Given the description of an element on the screen output the (x, y) to click on. 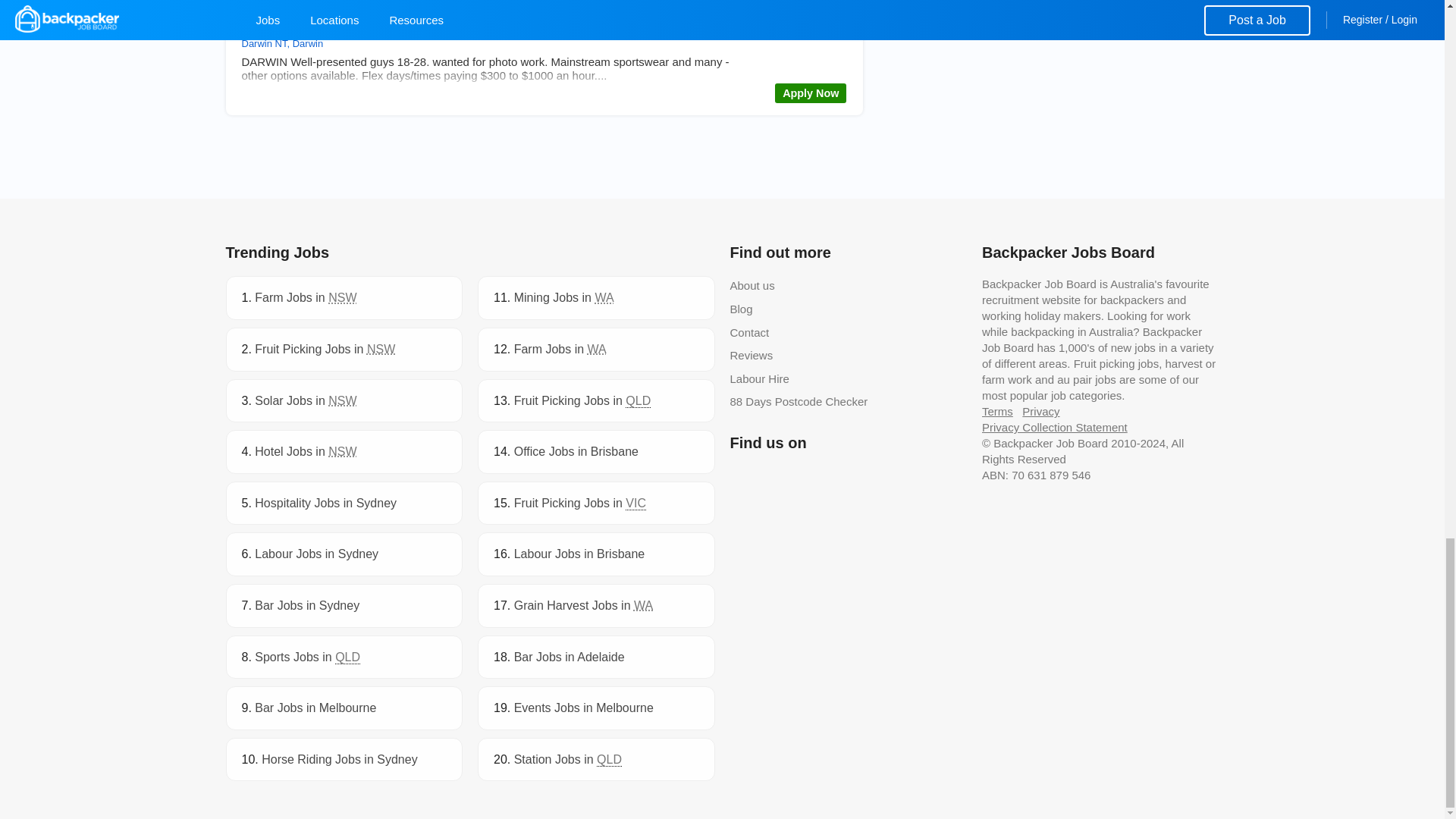
Sports Jobs in QLD (306, 657)
Hospitality Jobs in Sydney (325, 502)
Solar Jobs in NSW (305, 400)
Bar Jobs in Sydney (306, 604)
Farm Jobs in NSW (305, 297)
Apply Now (809, 93)
Fruit Picking Jobs in NSW (324, 349)
Hotel Jobs in NSW (305, 451)
Labour Jobs in Sydney (316, 553)
